Given the description of an element on the screen output the (x, y) to click on. 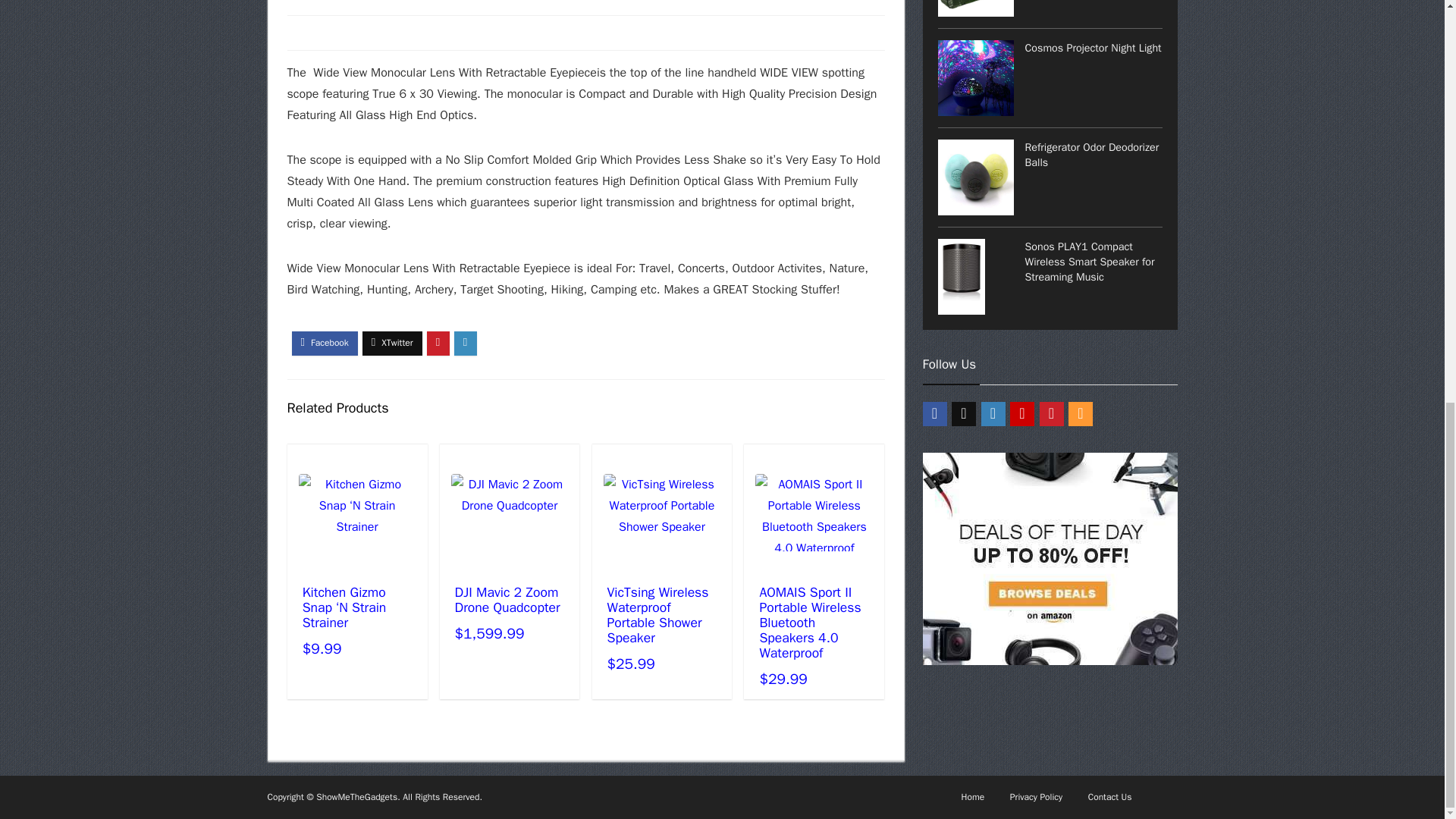
VicTsing Wireless Waterproof Portable Shower Speaker (657, 614)
DJI Mavic 2 Zoom Drone Quadcopter (507, 599)
